Given the description of an element on the screen output the (x, y) to click on. 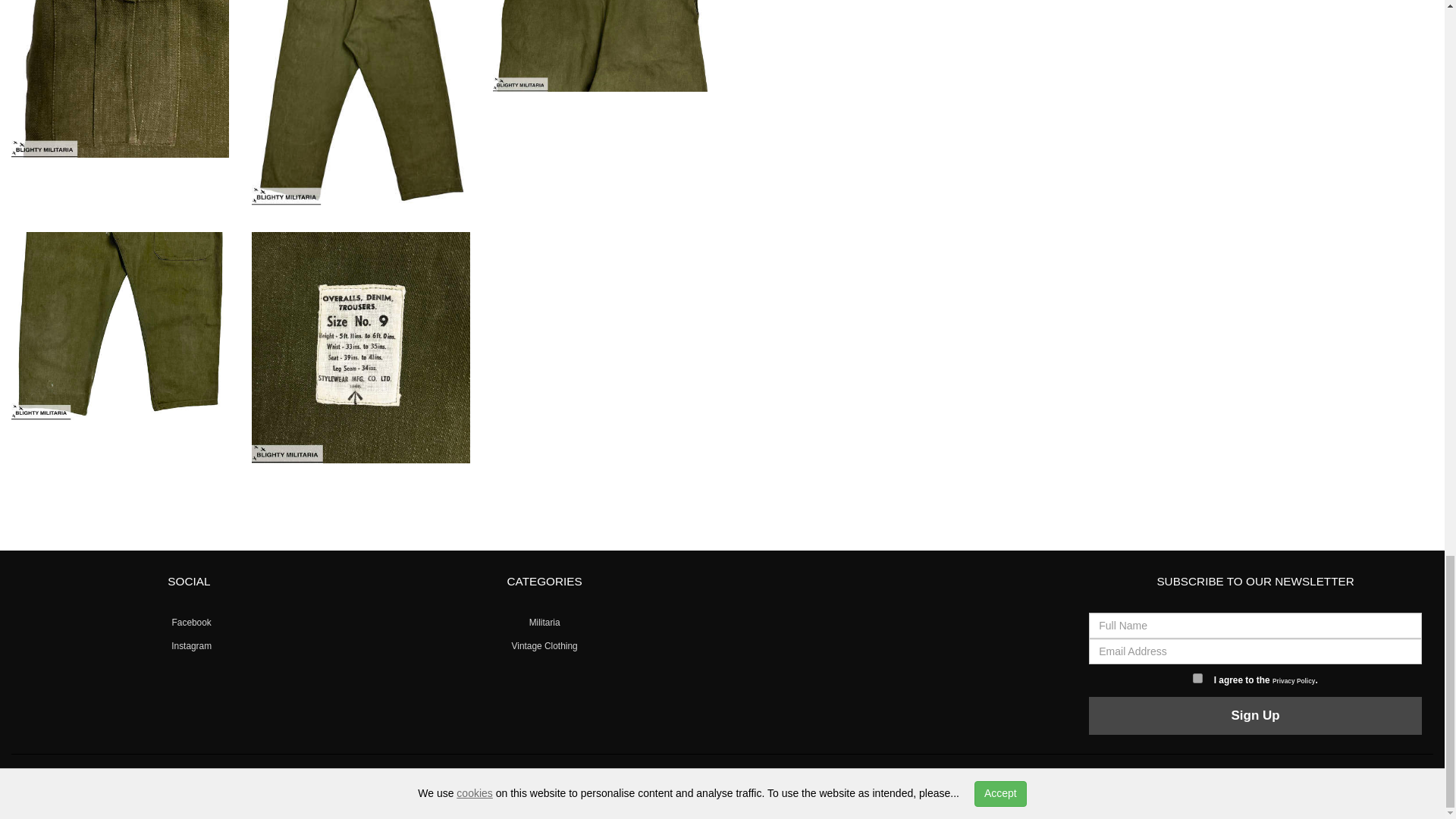
Militaria (157, 779)
  Instagram (189, 645)
  Facebook (189, 622)
Privacy (665, 779)
Vintage Clothing (545, 645)
Militaria (544, 622)
on (1197, 678)
Sign Up (1255, 715)
Terms (691, 779)
Privacy Policy (1293, 680)
